Given the description of an element on the screen output the (x, y) to click on. 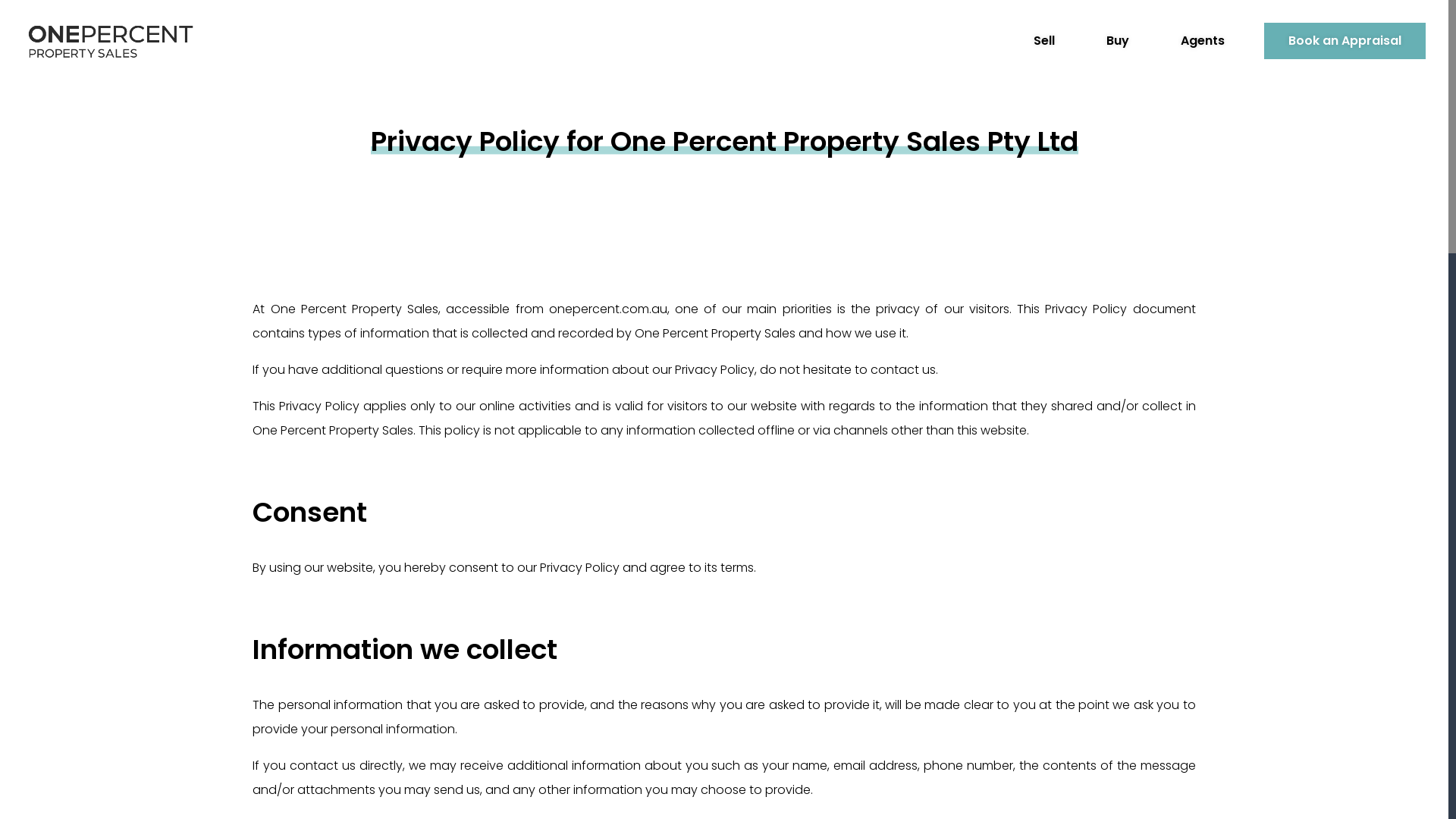
Buy Element type: text (1117, 40)
Book an Appraisal Element type: text (1344, 40)
Agents Element type: text (1202, 40)
Sell Element type: text (1044, 40)
